Given the description of an element on the screen output the (x, y) to click on. 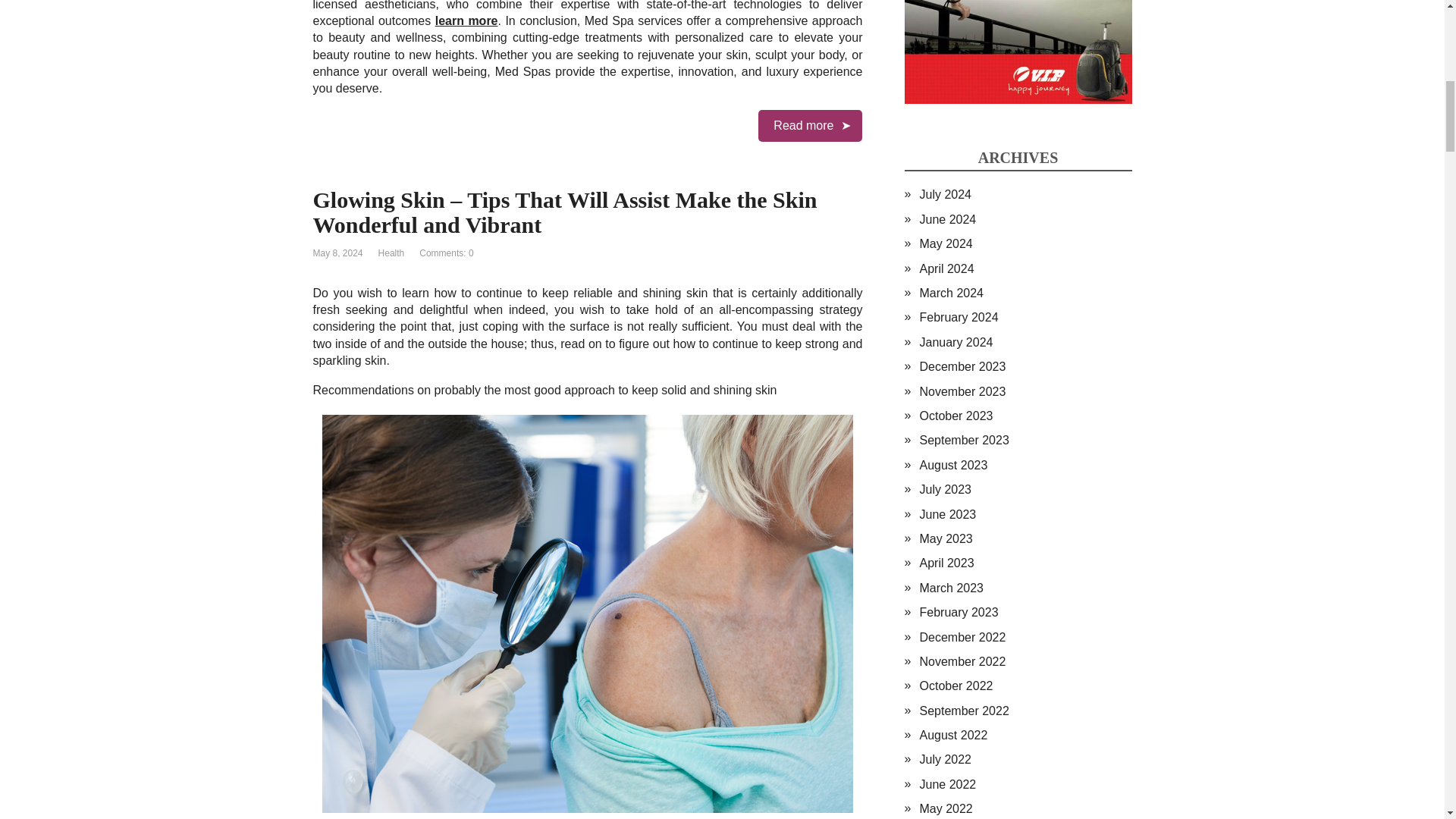
learn more (466, 20)
Comments: 0 (446, 253)
Health (391, 253)
Read more (809, 125)
